Given the description of an element on the screen output the (x, y) to click on. 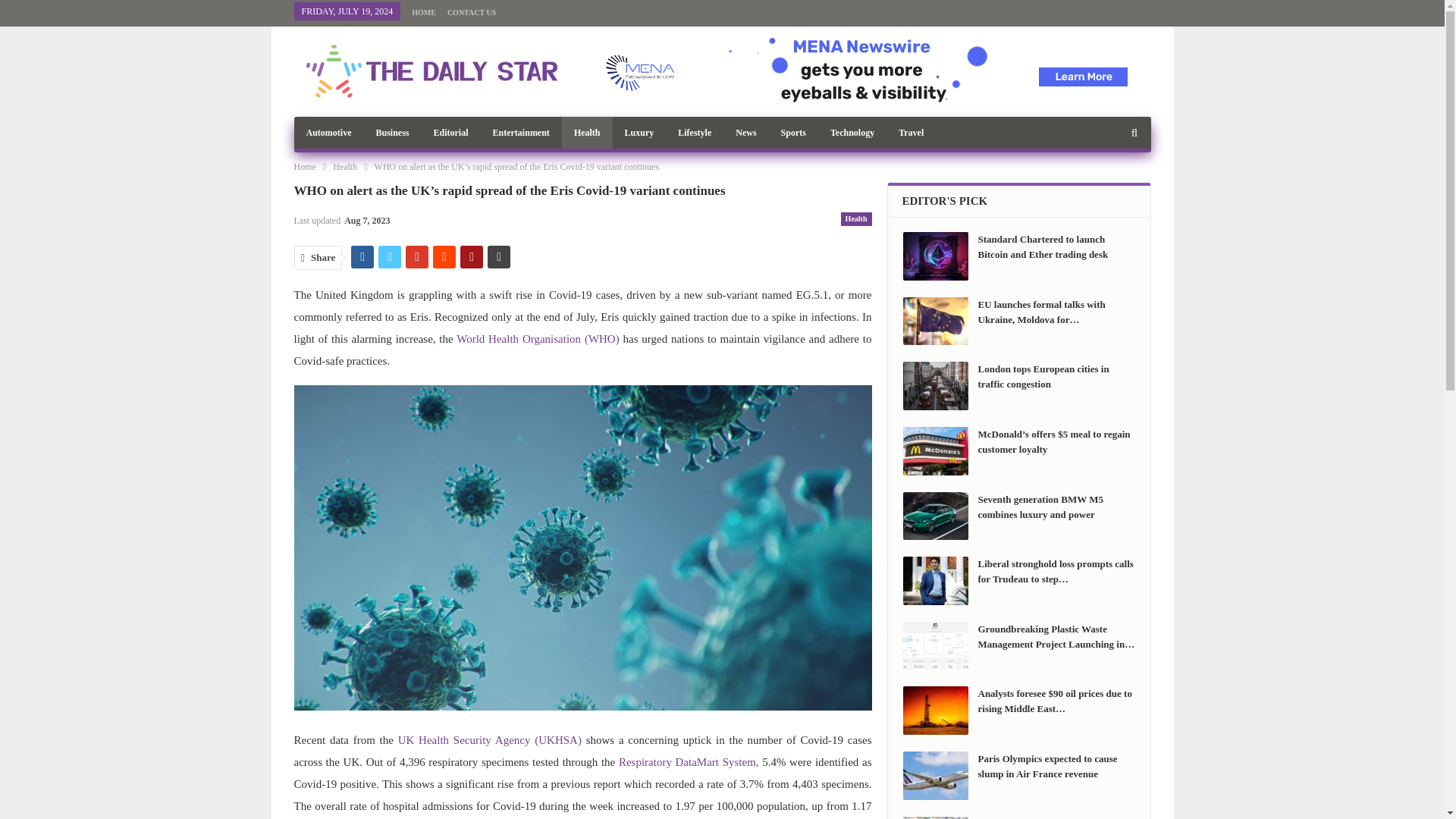
Health (856, 219)
London tops European cities in traffic congestion (935, 385)
Health (344, 166)
Home (304, 166)
Lifestyle (694, 132)
HOME (423, 12)
Respiratory DataMart System, (688, 761)
Sports (793, 132)
Travel (911, 132)
Automotive (329, 132)
CONTACT US (471, 12)
News (745, 132)
Health (587, 132)
Luxury (639, 132)
